Given the description of an element on the screen output the (x, y) to click on. 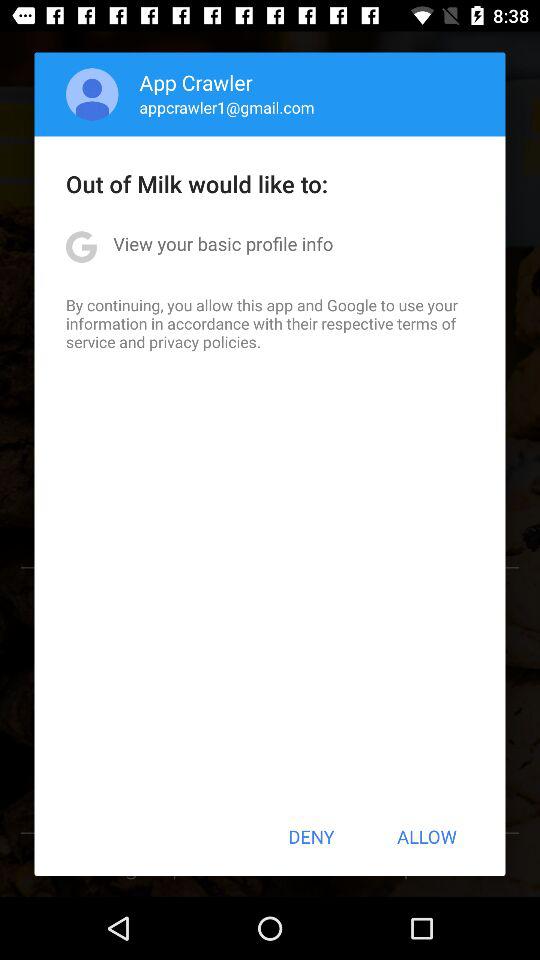
turn off the appcrawler1@gmail.com item (226, 107)
